Given the description of an element on the screen output the (x, y) to click on. 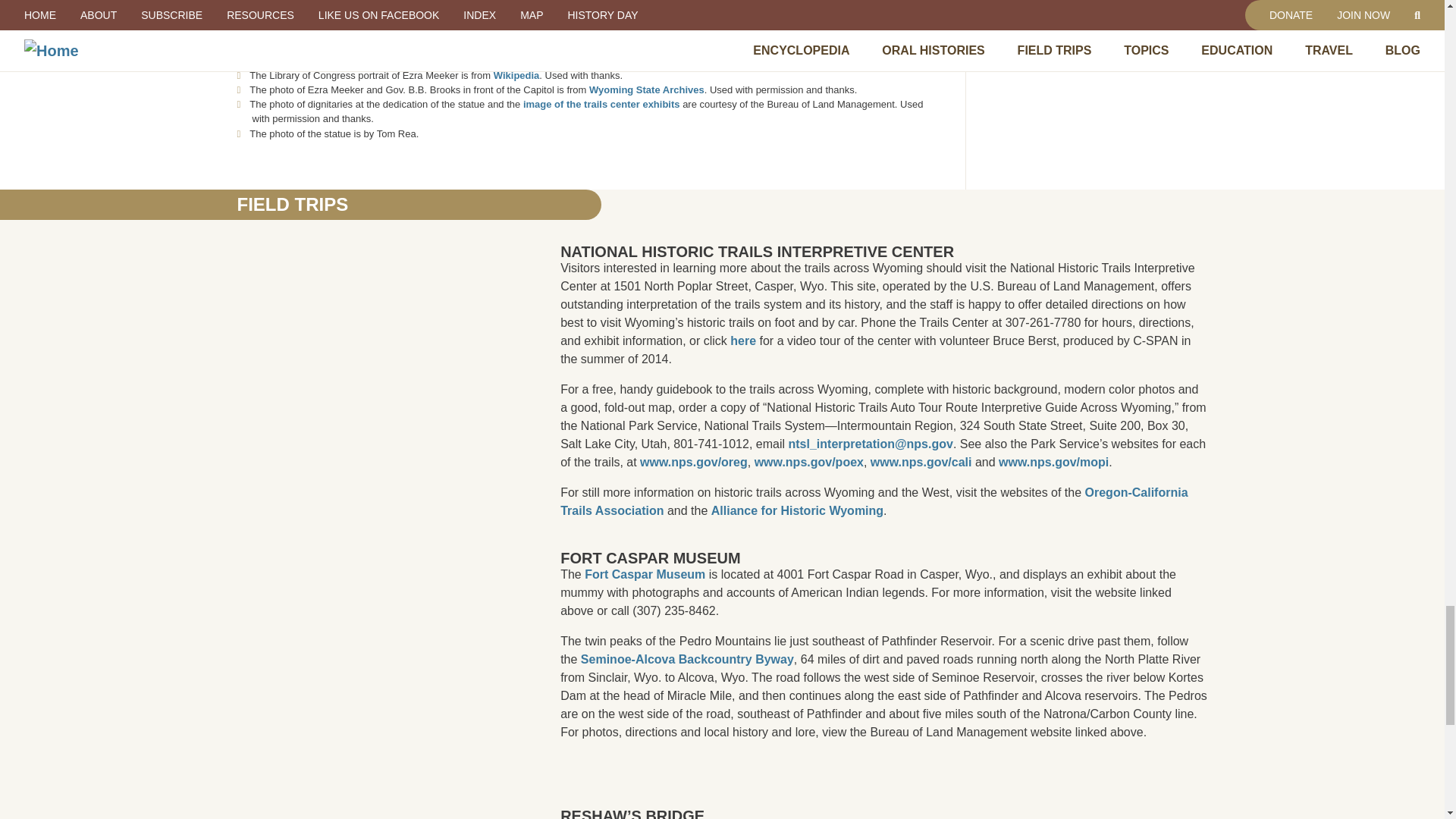
Alliance for Historic Wyoming (797, 510)
